Given the description of an element on the screen output the (x, y) to click on. 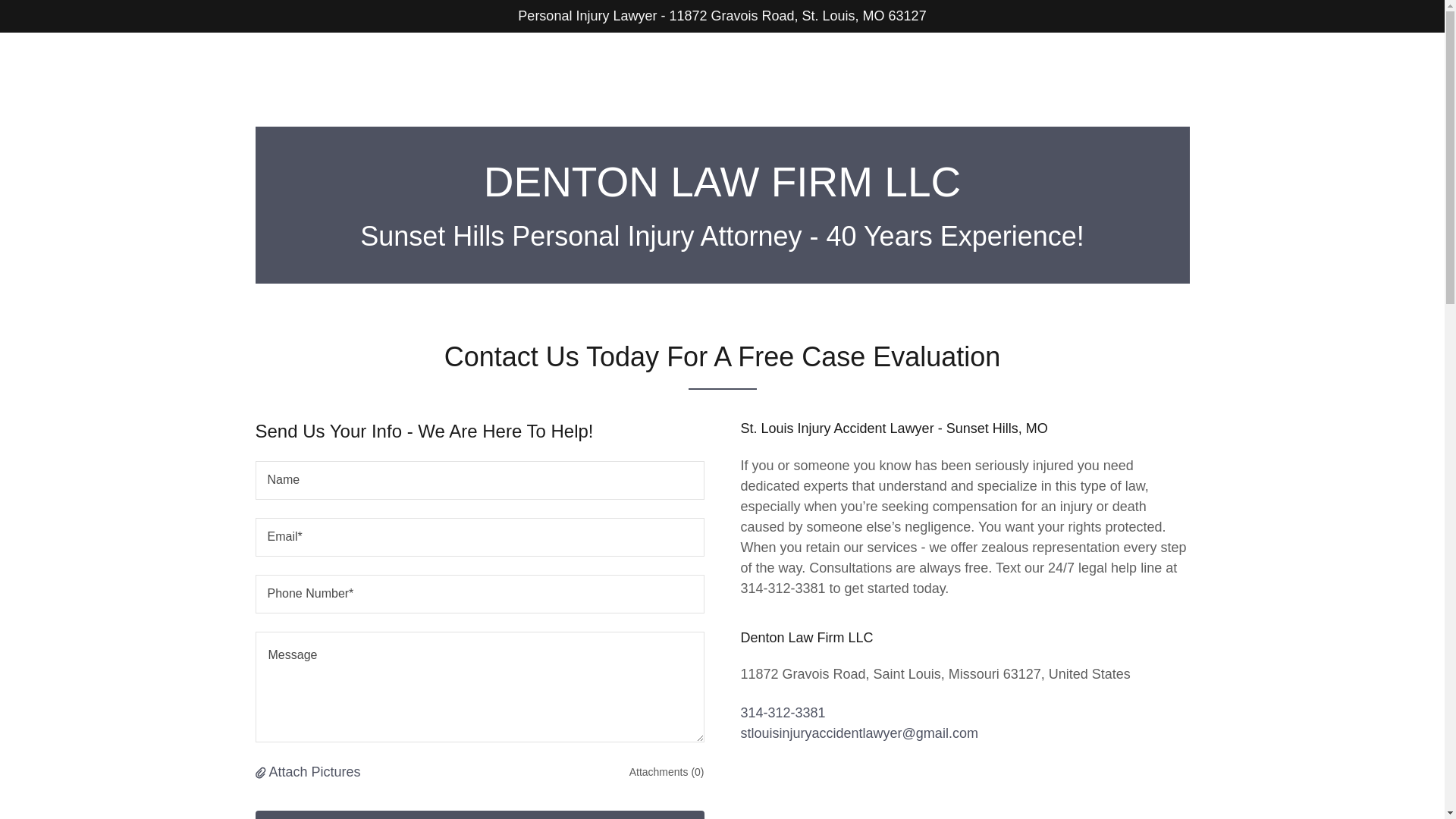
DENTON LAW FIRM LLC (721, 191)
